Given the description of an element on the screen output the (x, y) to click on. 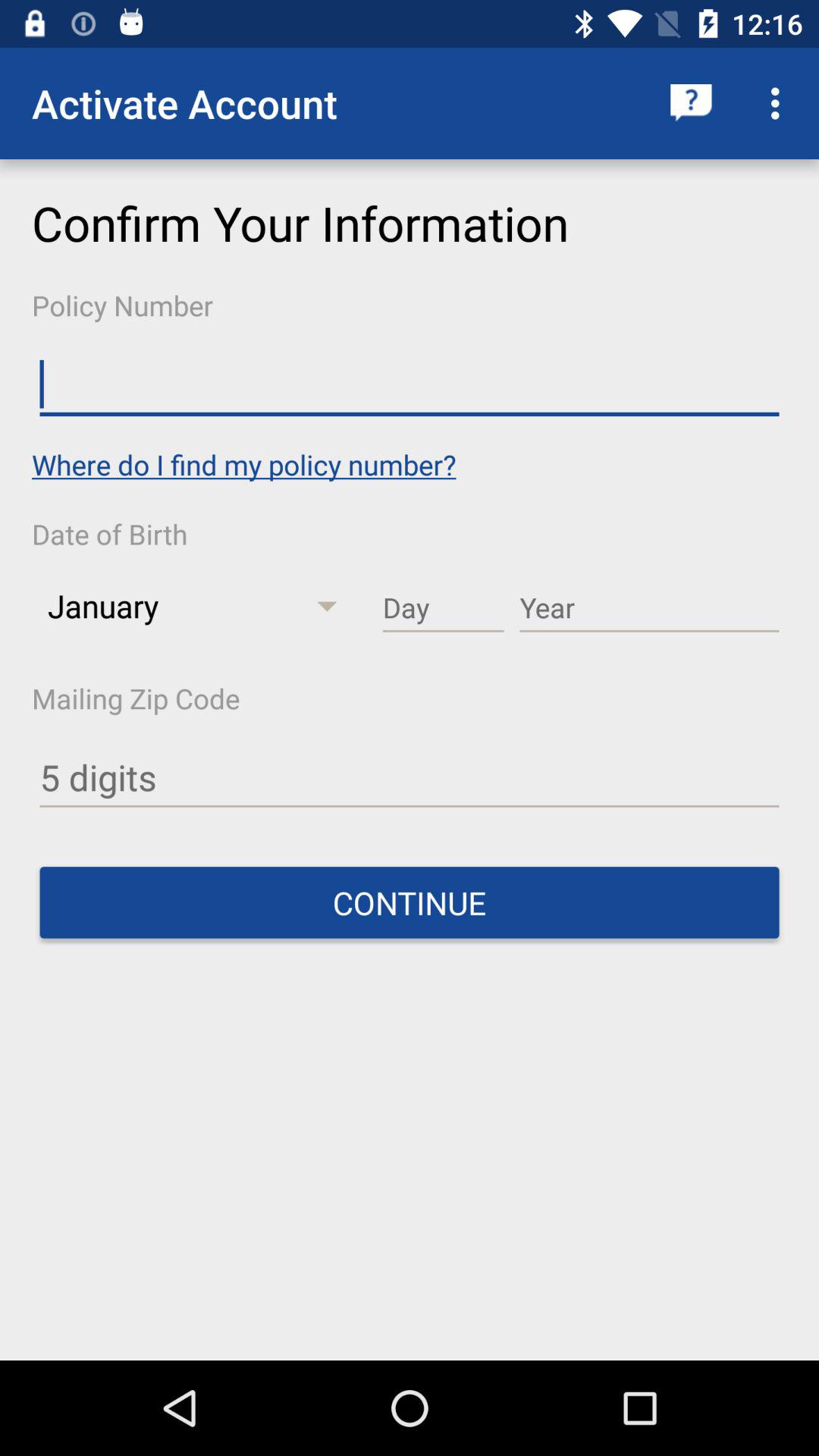
launch the continue (409, 902)
